Given the description of an element on the screen output the (x, y) to click on. 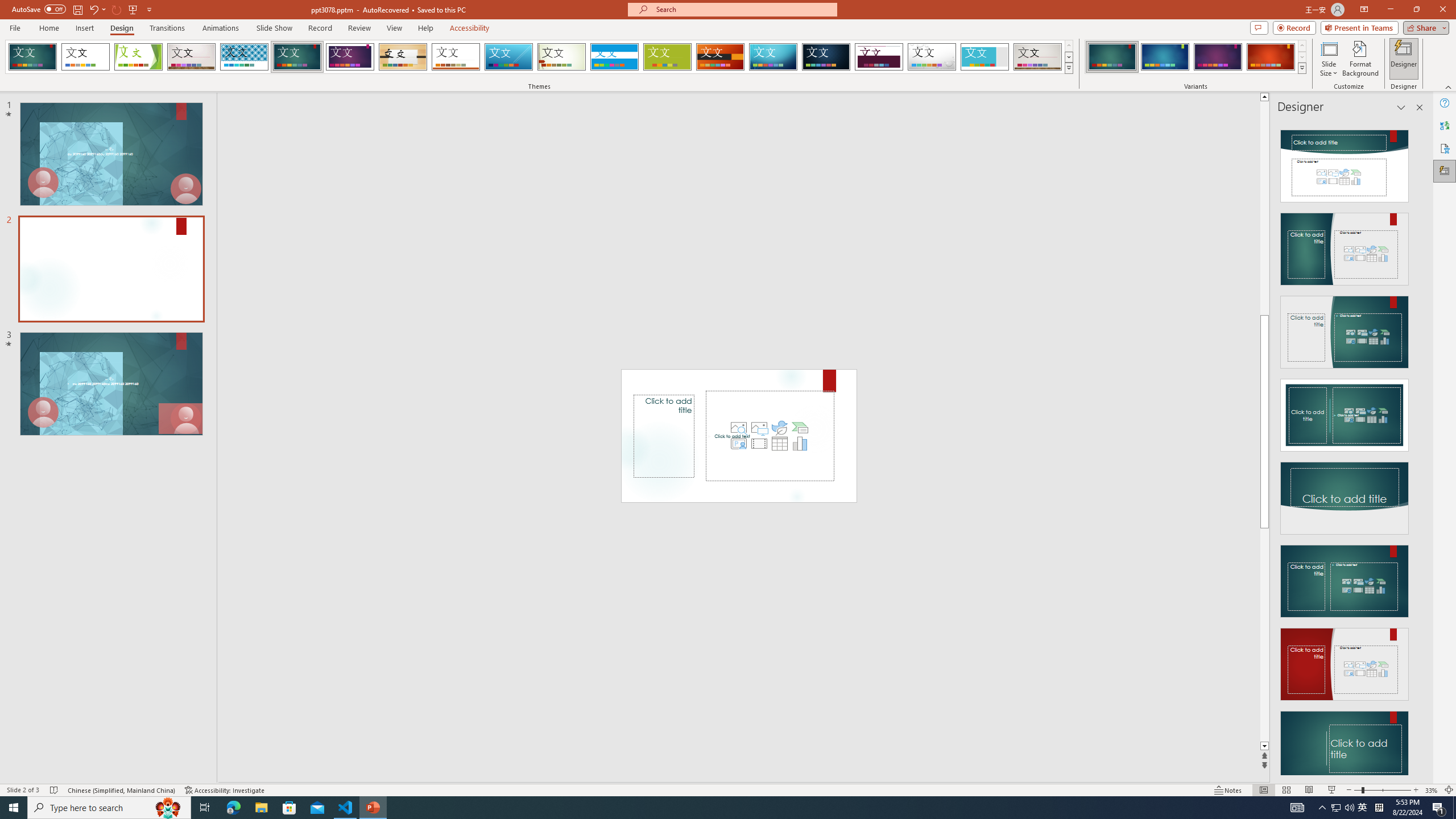
Basis (667, 56)
Insert Cameo (738, 443)
Droplet (931, 56)
Zoom 33% (1431, 790)
AutomationID: ThemeVariantsGallery (1195, 56)
